Given the description of an element on the screen output the (x, y) to click on. 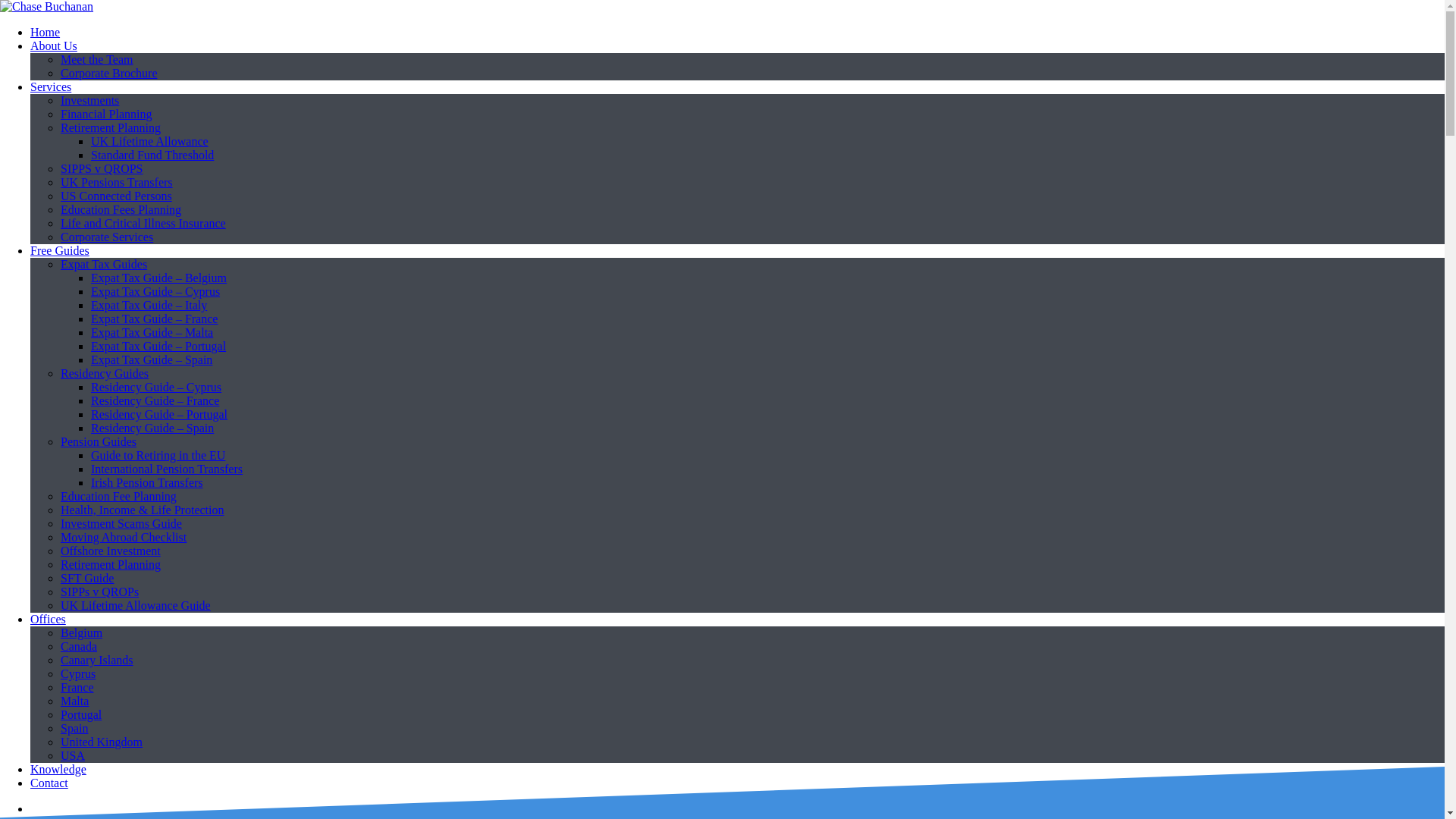
Services (50, 86)
International Pension Transfers (166, 468)
Life and Critical Illness Insurance (143, 223)
Expat Tax Guides (104, 264)
UK Lifetime Allowance (149, 141)
Free Guides (59, 250)
UK Pensions Transfers (117, 182)
Investments (90, 100)
Financial Planning (106, 113)
Retirement Planning (110, 127)
Guide to Retiring in the EU (157, 454)
Meet the Team (96, 59)
Corporate Services (106, 236)
Irish Pension Transfers (146, 481)
Residency Guides (104, 373)
